Given the description of an element on the screen output the (x, y) to click on. 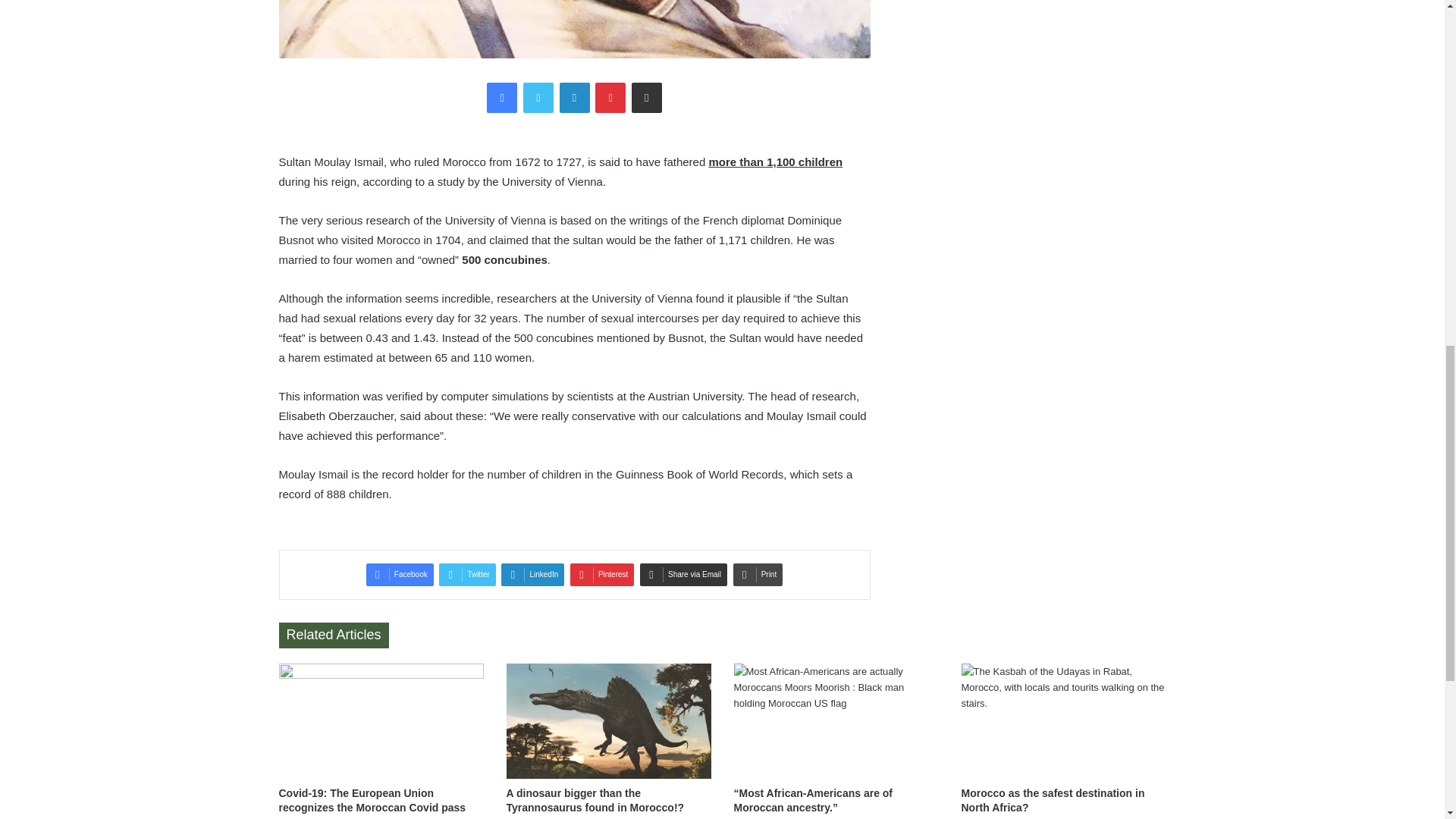
Twitter (467, 574)
Pinterest (601, 574)
LinkedIn (532, 574)
LinkedIn (574, 97)
LinkedIn (574, 97)
Share via Email (646, 97)
Pinterest (610, 97)
Twitter (537, 97)
Share via Email (646, 97)
Facebook (501, 97)
Facebook (399, 574)
Twitter (467, 574)
Facebook (399, 574)
Pinterest (610, 97)
